Given the description of an element on the screen output the (x, y) to click on. 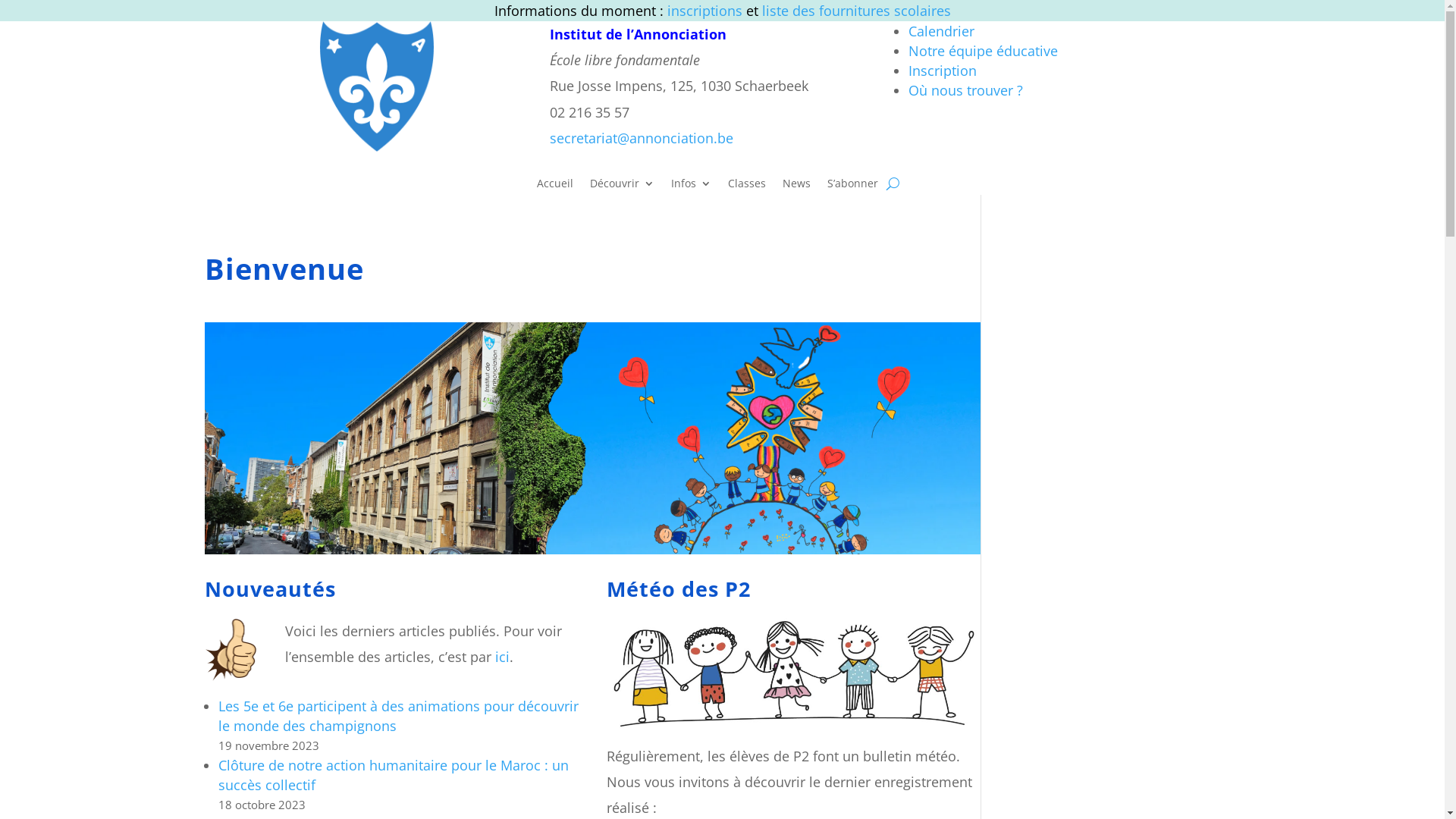
secretariat@annonciation.be Element type: text (641, 137)
liste des fournitures scolaires Element type: text (855, 10)
inscriptions Element type: text (706, 10)
News Element type: text (796, 186)
ici Element type: text (501, 656)
Infos Element type: text (691, 186)
Calendrier Element type: text (941, 30)
Classes Element type: text (746, 186)
Inscription Element type: text (942, 70)
nouveau logo Element type: hover (376, 86)
Accueil Element type: text (554, 186)
